Given the description of an element on the screen output the (x, y) to click on. 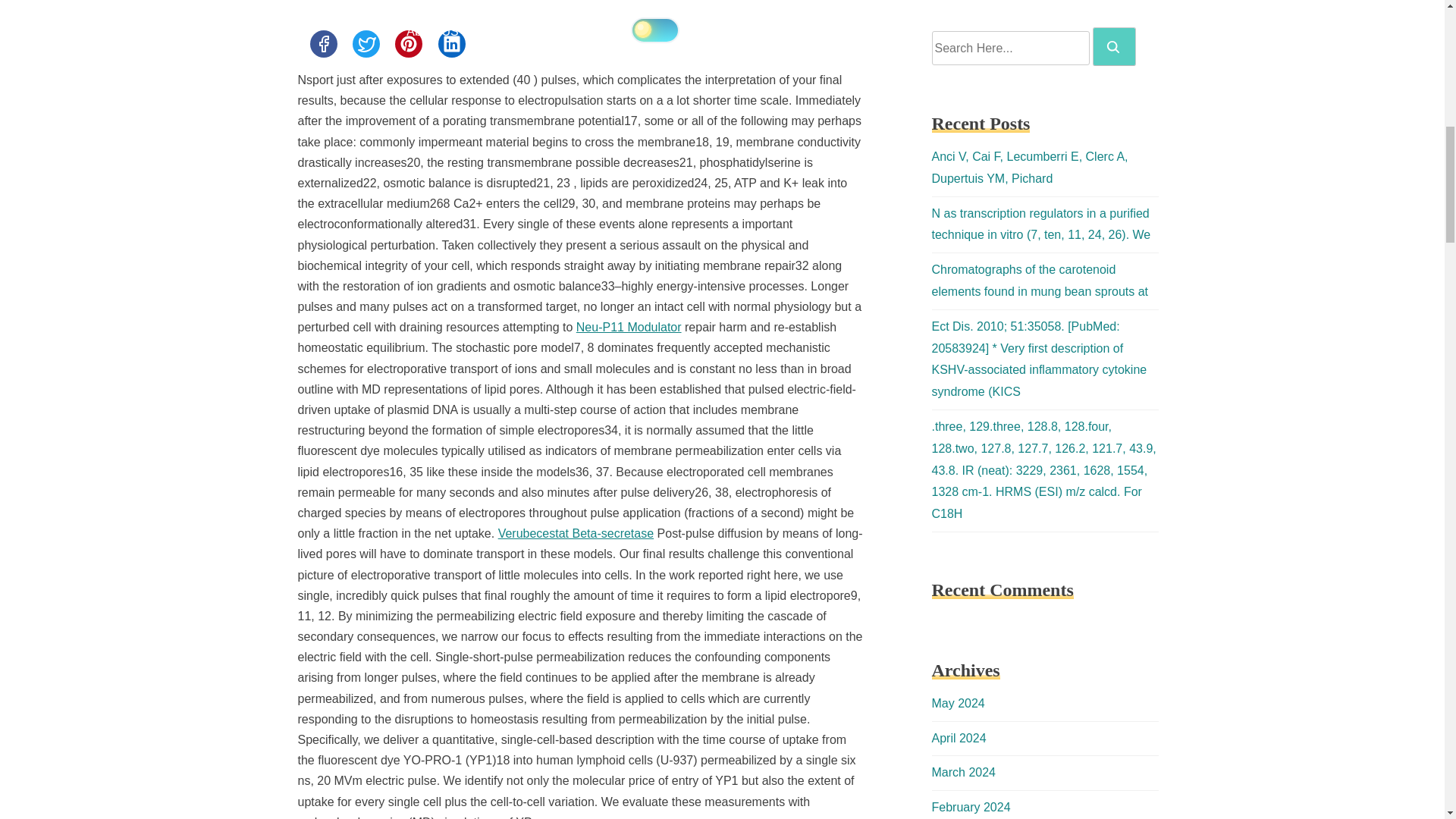
Search (1114, 46)
Search (1113, 46)
Anci V, Cai F, Lecumberri E, Clerc A, Dupertuis YM, Pichard (1028, 167)
Share this post on Pinterest (408, 43)
Share this post on Twitter (366, 43)
Neu-P11 Modulator (628, 327)
Share this post on Facebook (322, 43)
Share this post on Linkedin (451, 43)
Verubecestat Beta-secretase (575, 533)
